Given the description of an element on the screen output the (x, y) to click on. 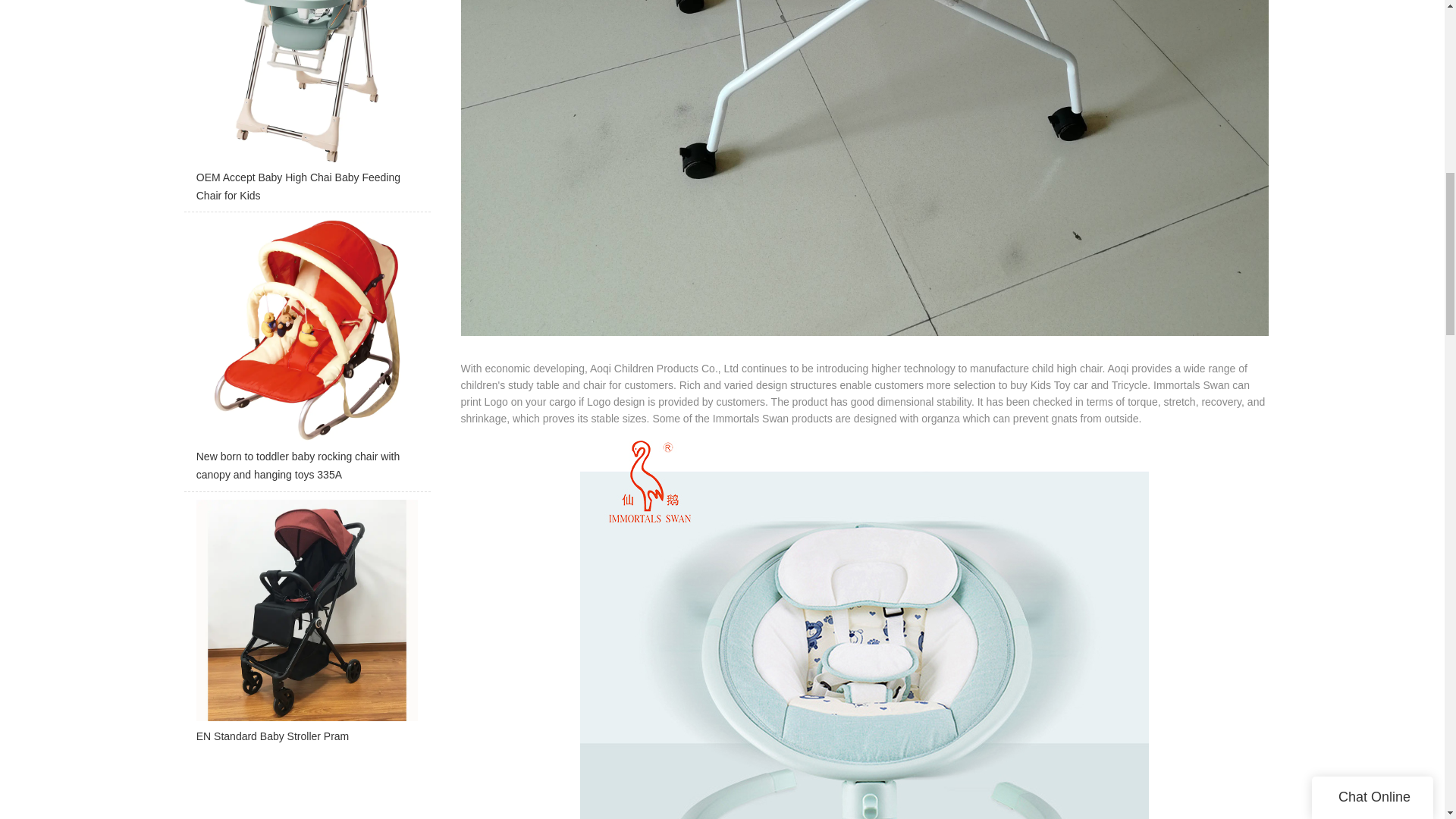
EN Standard Baby Stroller Pram (306, 625)
OEM Accept Baby High Chai Baby Feeding Chair for Kids (306, 106)
